Given the description of an element on the screen output the (x, y) to click on. 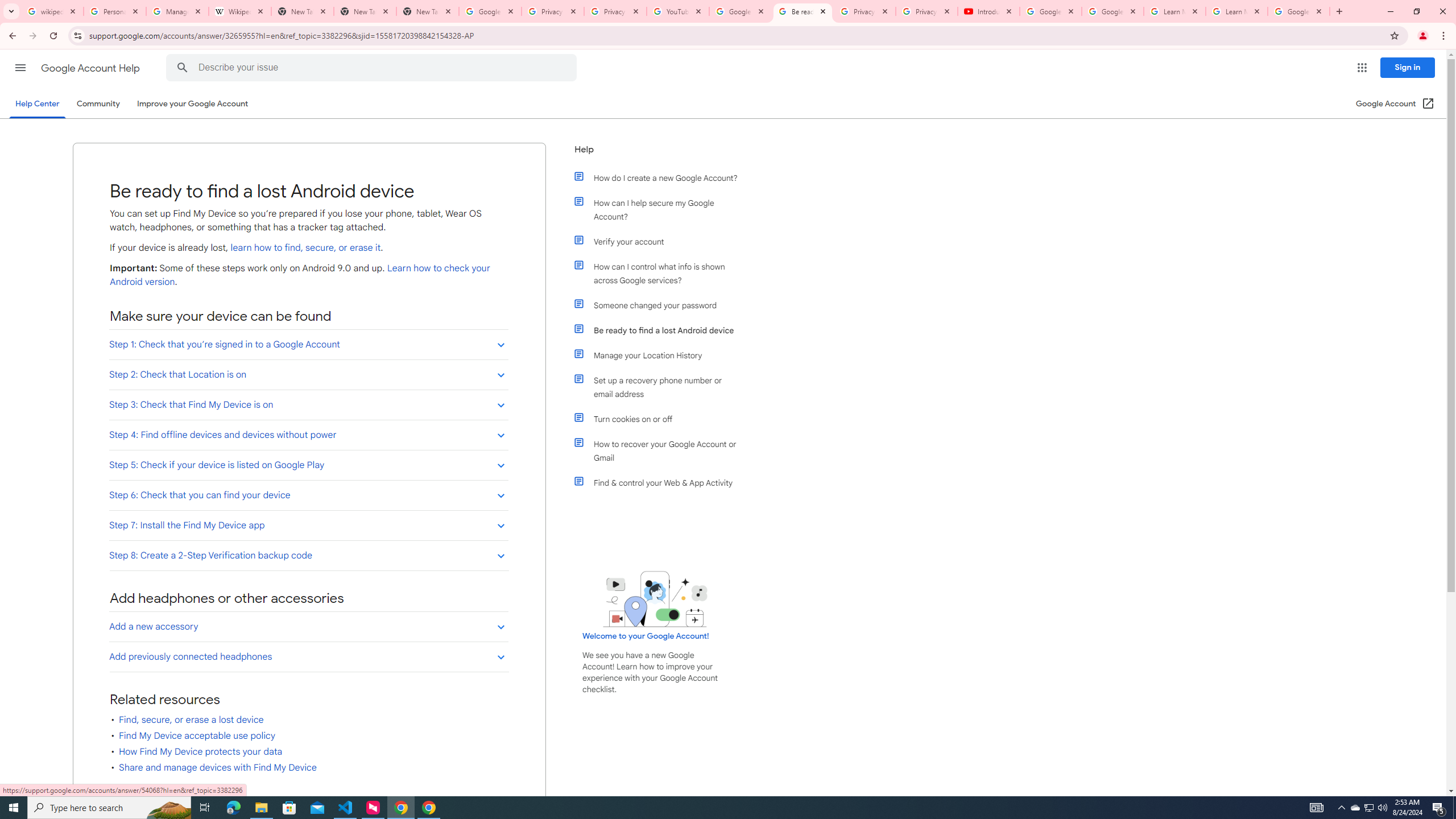
Be ready to find a lost Android device - Google Account Help (802, 11)
Google Account Help (1050, 11)
Give feedback about this article (169, 796)
Step 2: Check that Location is on (308, 374)
Help (656, 153)
Community (97, 103)
Google Account (Open in a new window) (1395, 103)
How Find My Device protects your data (200, 751)
Introduction | Google Privacy Policy - YouTube (988, 11)
Find & control your Web & App Activity (661, 482)
Add previously connected headphones (308, 656)
Step 8: Create a 2-Step Verification backup code (308, 555)
